Given the description of an element on the screen output the (x, y) to click on. 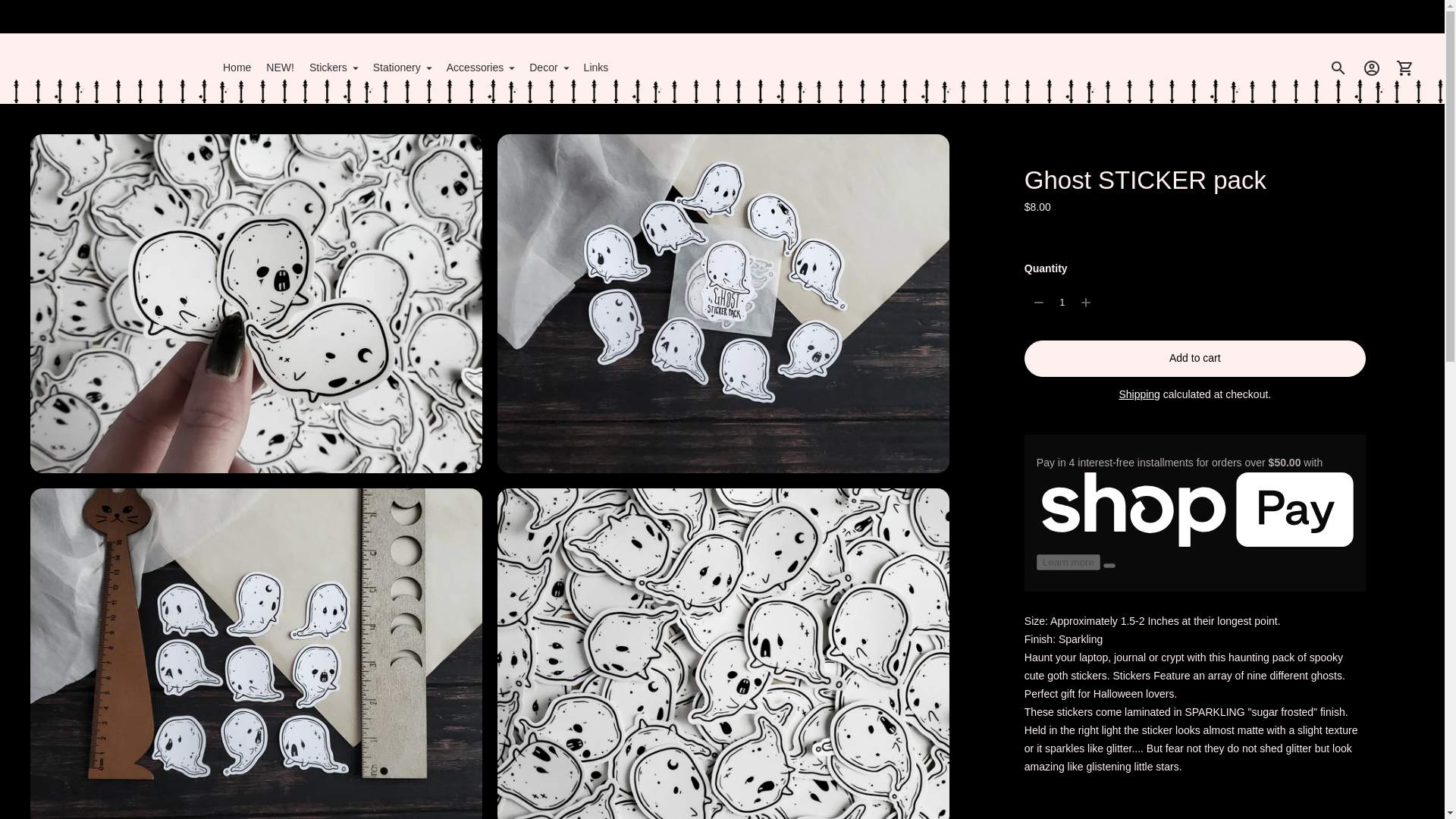
Home (236, 68)
Account (1372, 68)
Accessories (479, 68)
Decor (548, 68)
1 (1061, 302)
Links (595, 68)
Stickers (333, 68)
Increase (1085, 302)
Stationery (401, 68)
Decrease (1038, 302)
NEW! (280, 68)
